Given the description of an element on the screen output the (x, y) to click on. 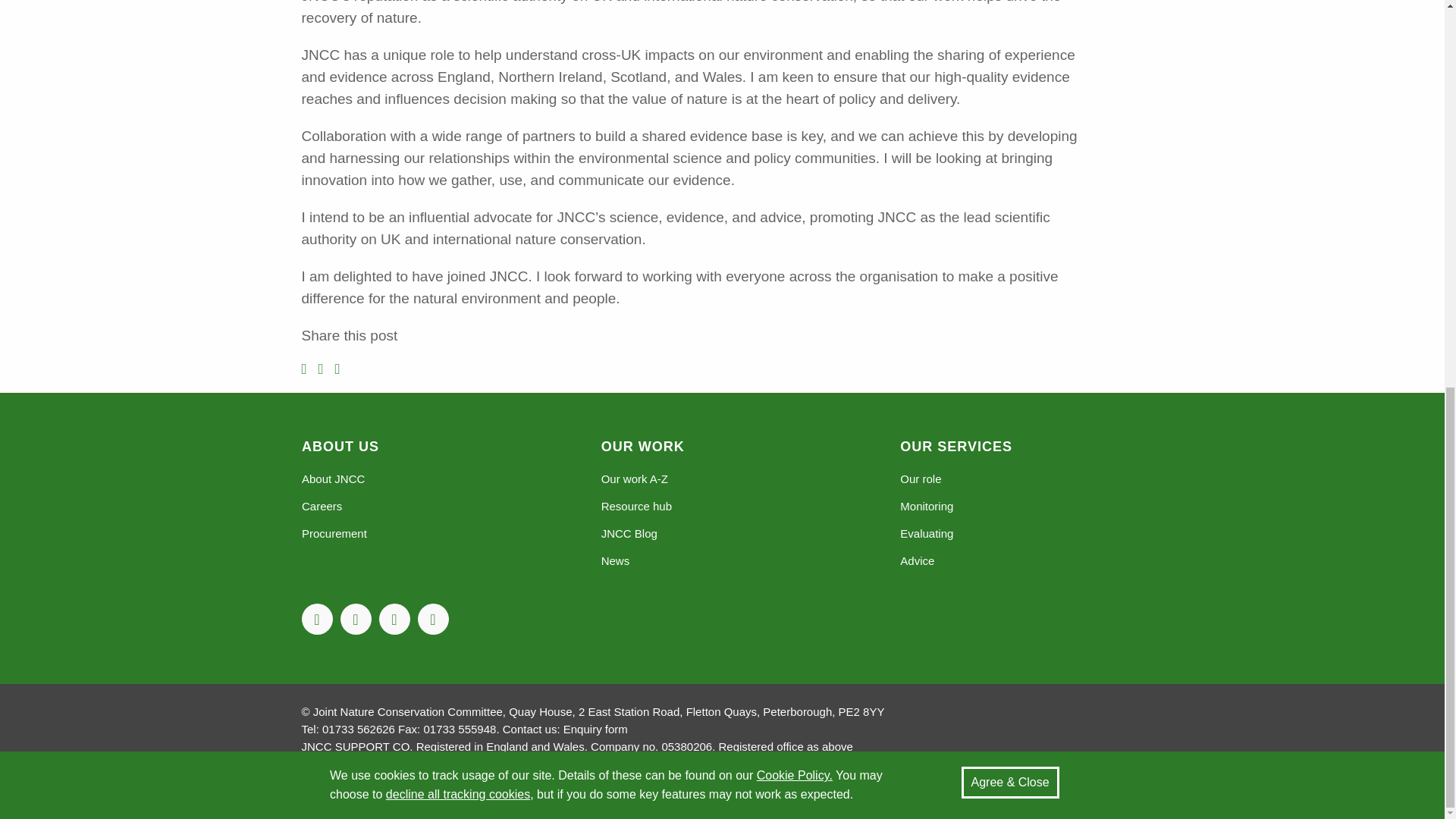
Cookie policy (794, 41)
contact (595, 728)
